Given the description of an element on the screen output the (x, y) to click on. 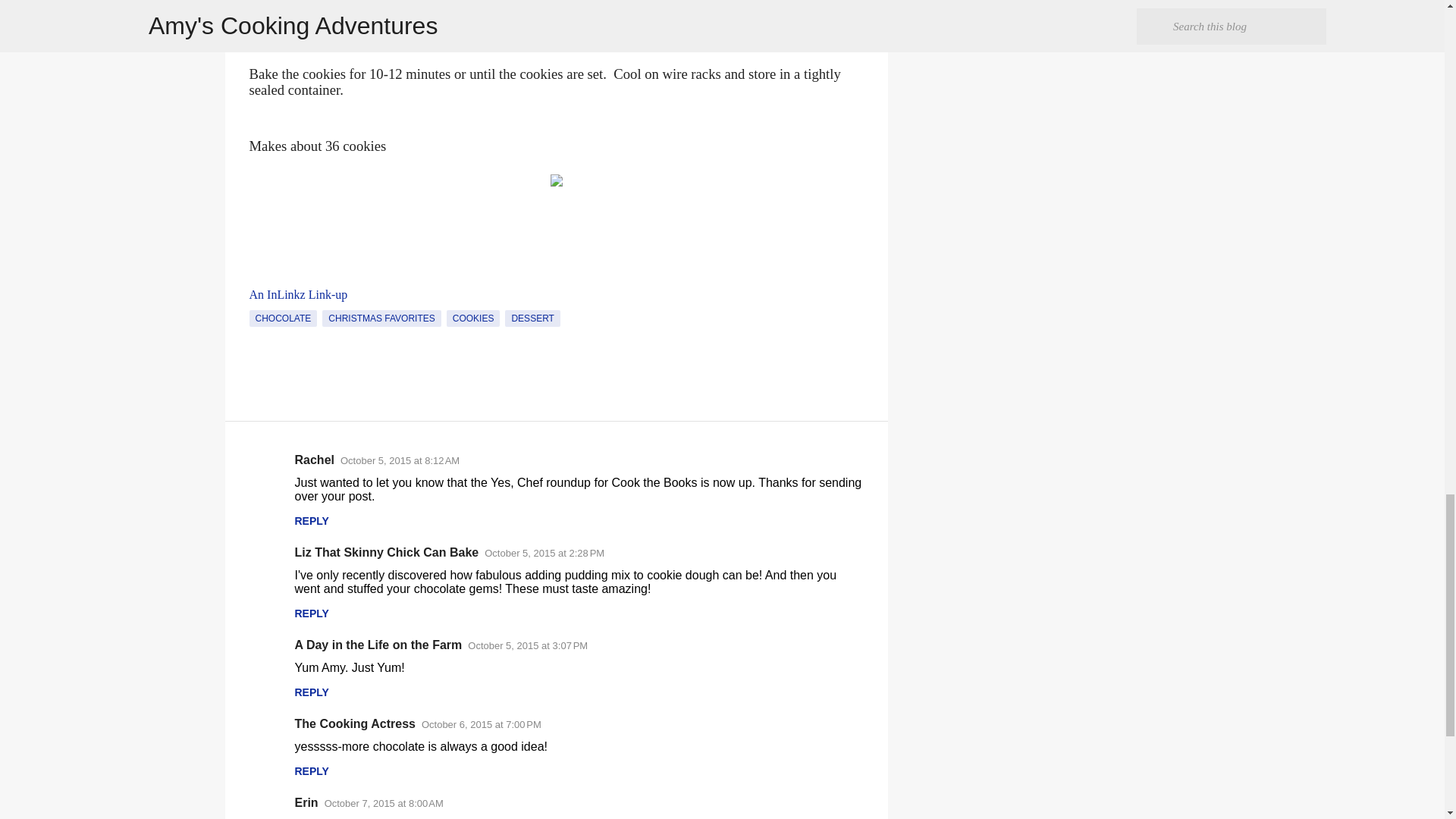
Rachel (313, 459)
An InLinkz Link-up (297, 294)
click to view in an external page. (297, 294)
CHOCOLATE (282, 318)
Liz That Skinny Chick Can Bake (386, 552)
REPLY (311, 521)
DESSERT (532, 318)
COOKIES (473, 318)
